Given the description of an element on the screen output the (x, y) to click on. 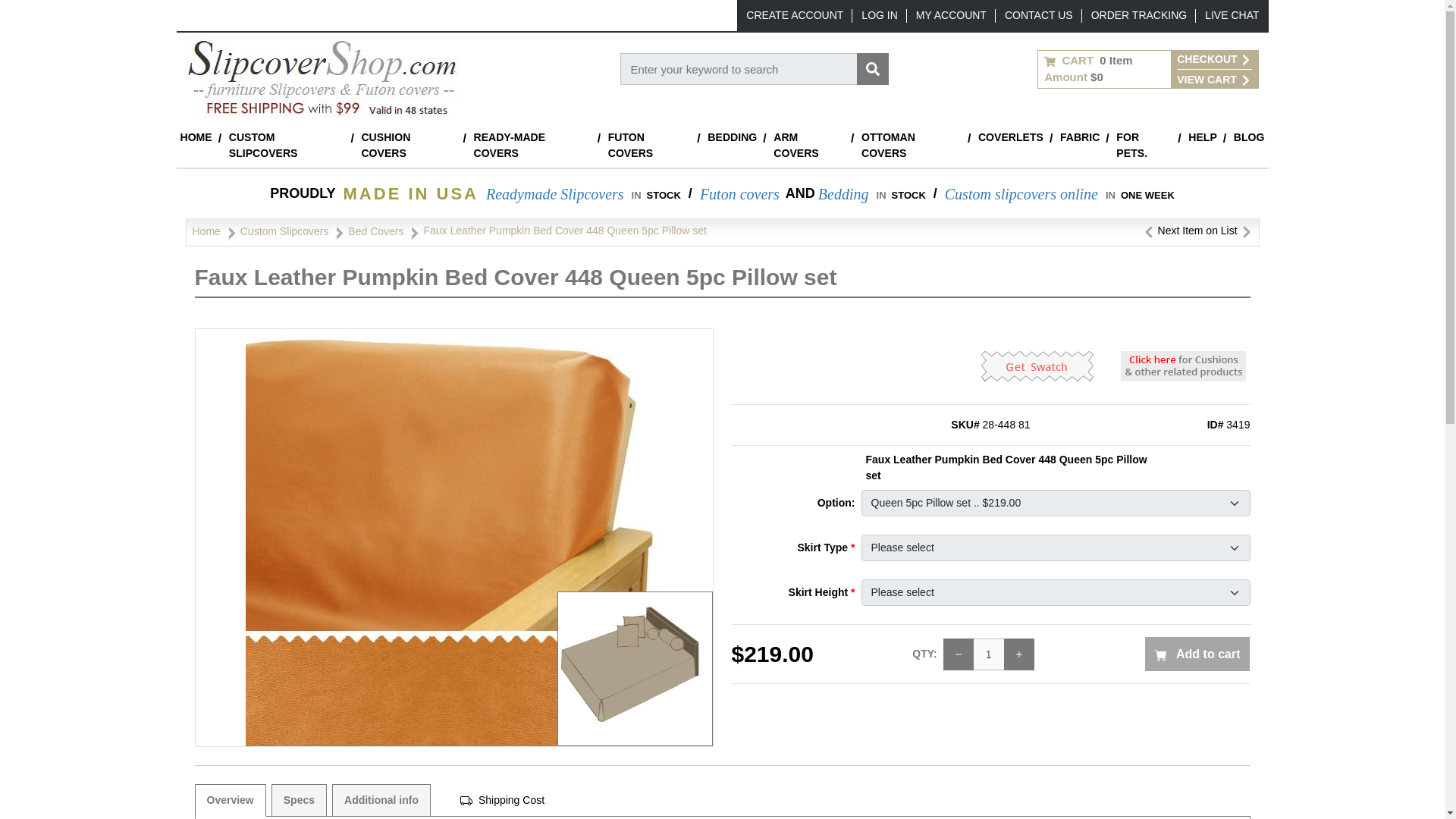
Readymade Slipcovers (555, 193)
ORDER TRACKING (1139, 15)
HOME (195, 137)
VIEW CART (1213, 78)
READY-MADE COVERS (531, 145)
CUSHION COVERS (408, 145)
CREATE ACCOUNT (794, 15)
Next (1246, 230)
CONTACT US (1038, 15)
Previous (1148, 230)
